Given the description of an element on the screen output the (x, y) to click on. 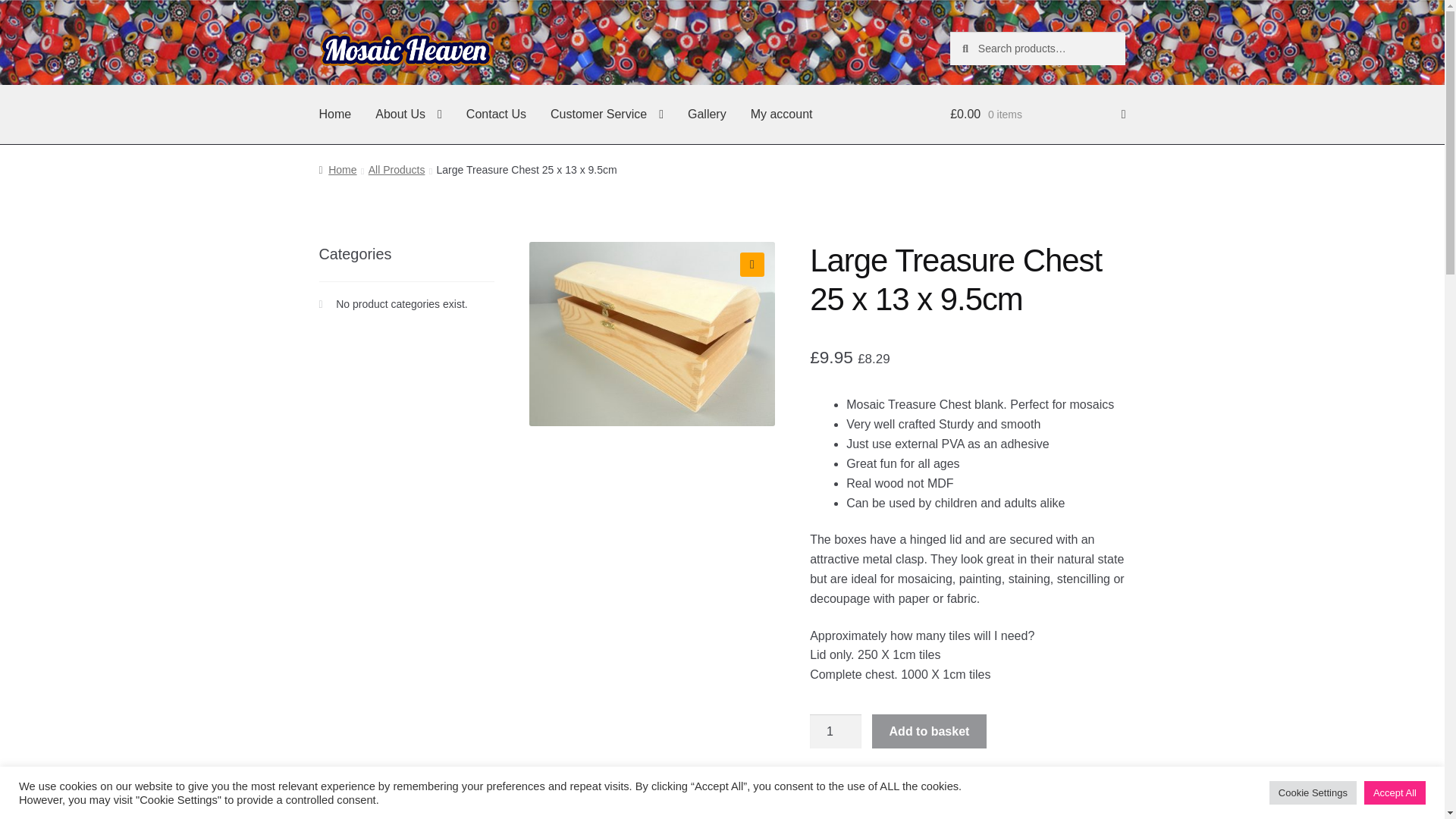
View your shopping basket (1037, 114)
All Products (396, 169)
1 (835, 731)
Contact Us (496, 114)
Home (337, 169)
Customer Service (606, 114)
About Us (408, 114)
largetreasurechest.jpg (651, 333)
My account (781, 114)
